Given the description of an element on the screen output the (x, y) to click on. 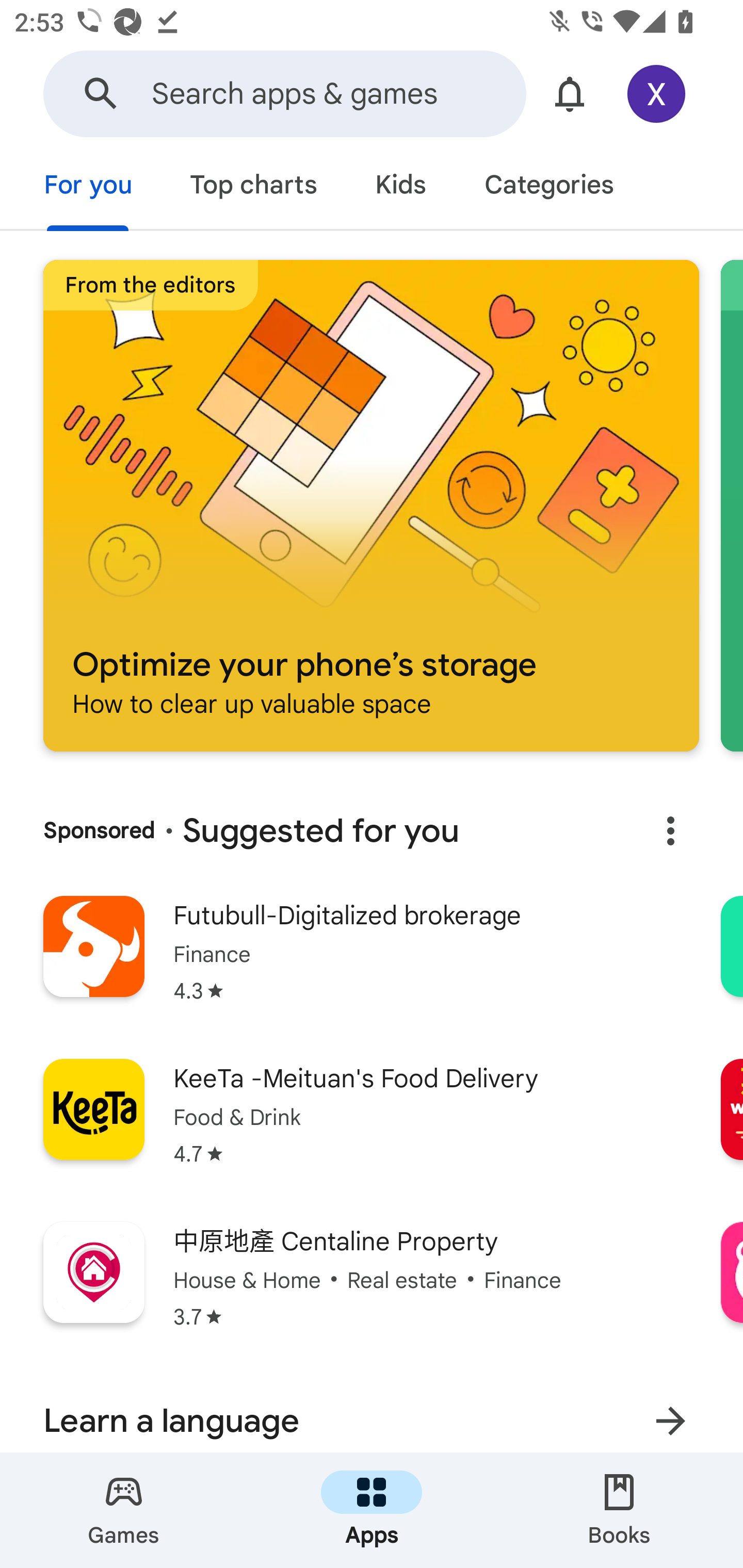
Search Google Play Search apps & games (284, 93)
Search Google Play (100, 93)
Show notifications and offers. (569, 93)
Top charts (253, 187)
Kids (400, 187)
Categories (548, 187)
About this ad (670, 830)
Learn a language More results for Learn a language (371, 1410)
More results for Learn a language (670, 1414)
Games (123, 1509)
Books (619, 1509)
